Given the description of an element on the screen output the (x, y) to click on. 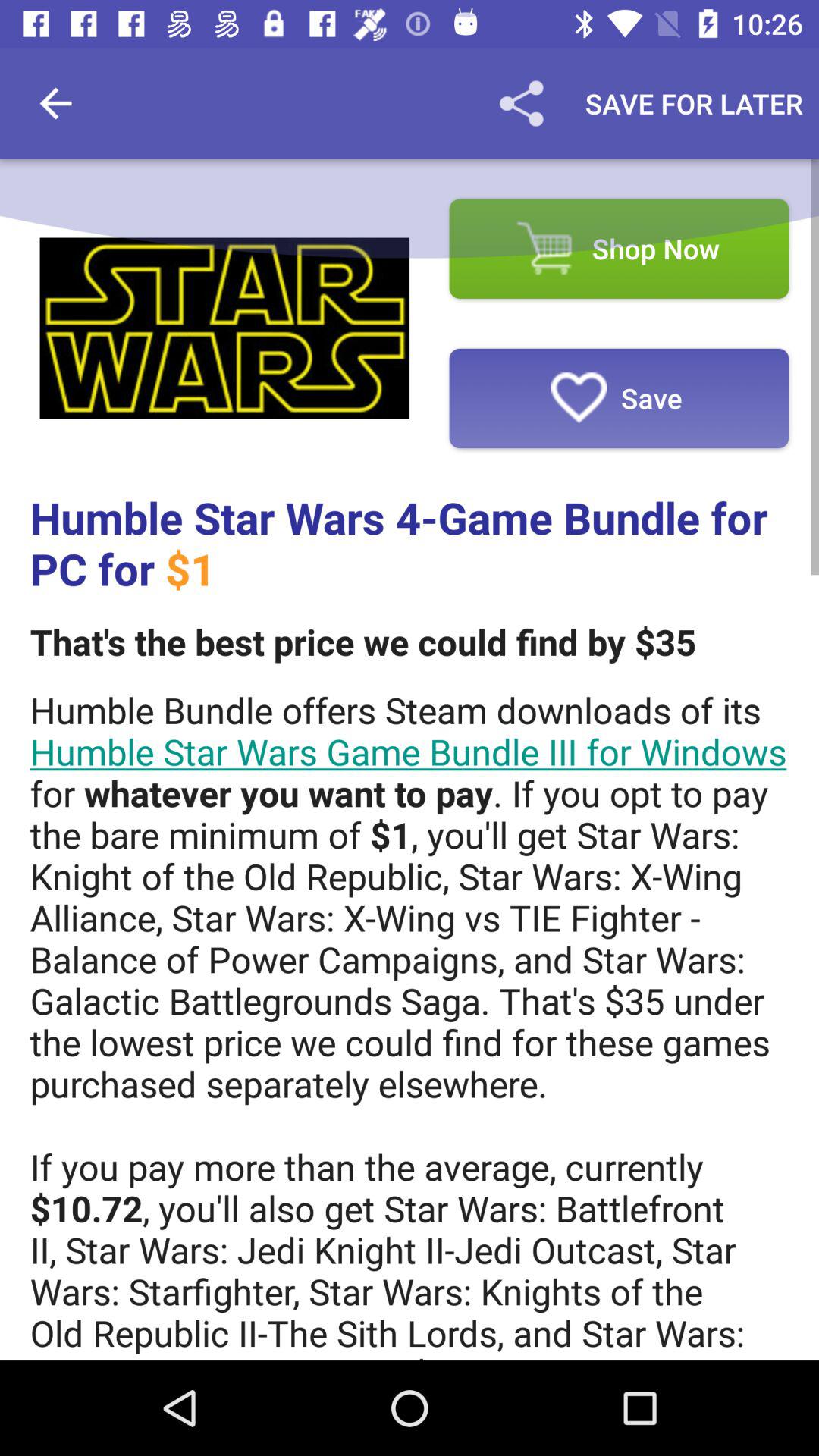
select item next to save for later (521, 103)
